Given the description of an element on the screen output the (x, y) to click on. 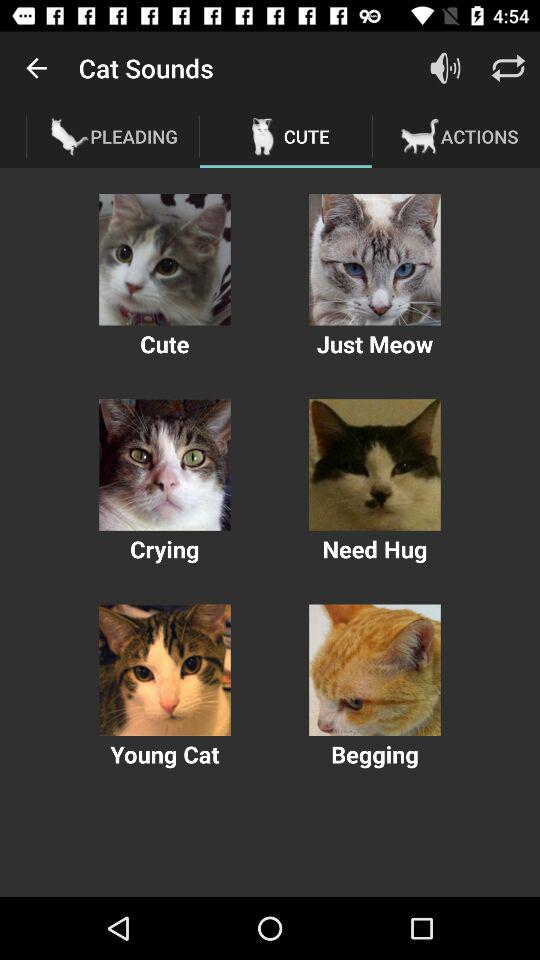
volue button (445, 67)
